Given the description of an element on the screen output the (x, y) to click on. 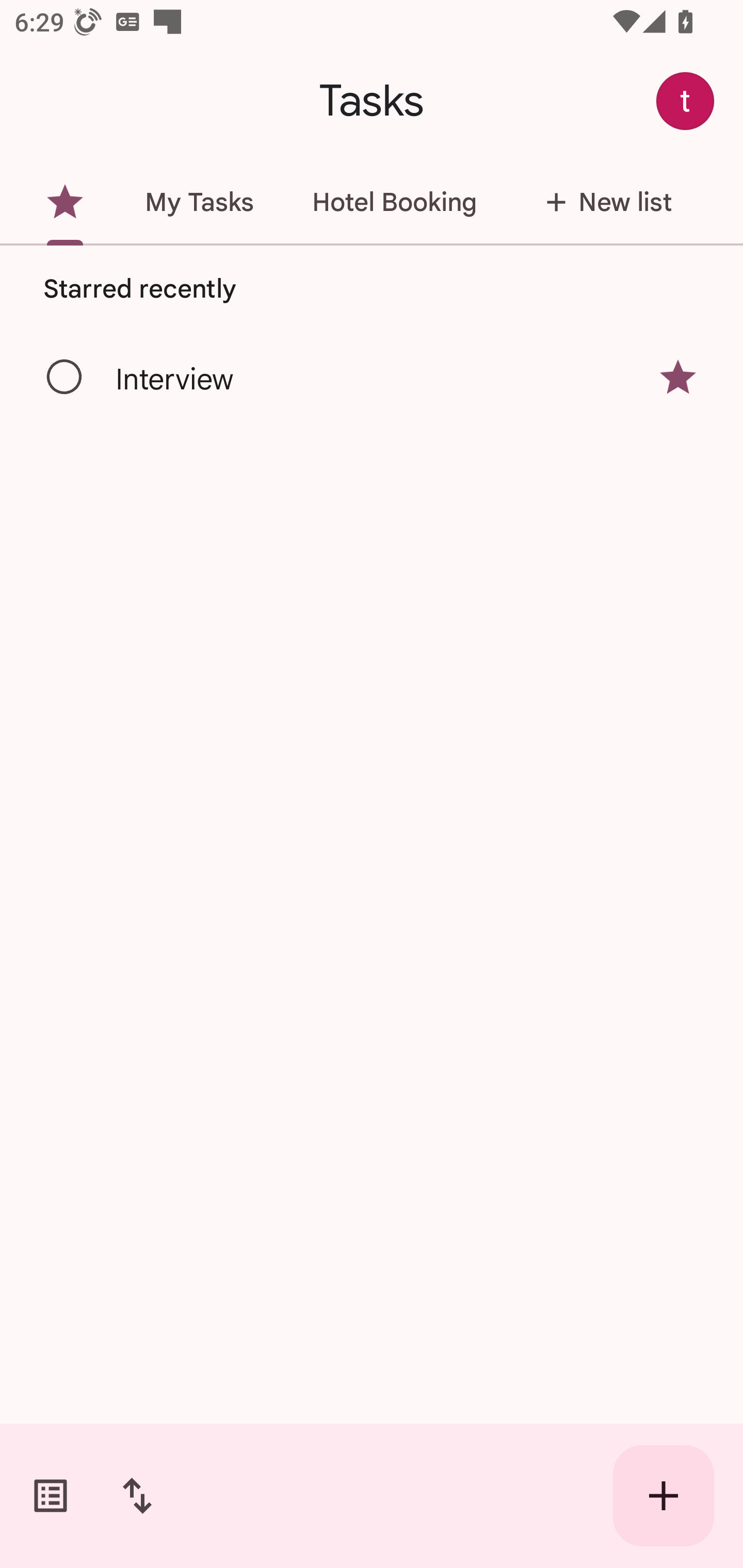
My Tasks (199, 202)
Hotel Booking (394, 202)
New list (602, 202)
Remove star (677, 376)
Mark as complete (64, 377)
Switch task lists (50, 1495)
Create new task (663, 1495)
Change sort order (136, 1495)
